Given the description of an element on the screen output the (x, y) to click on. 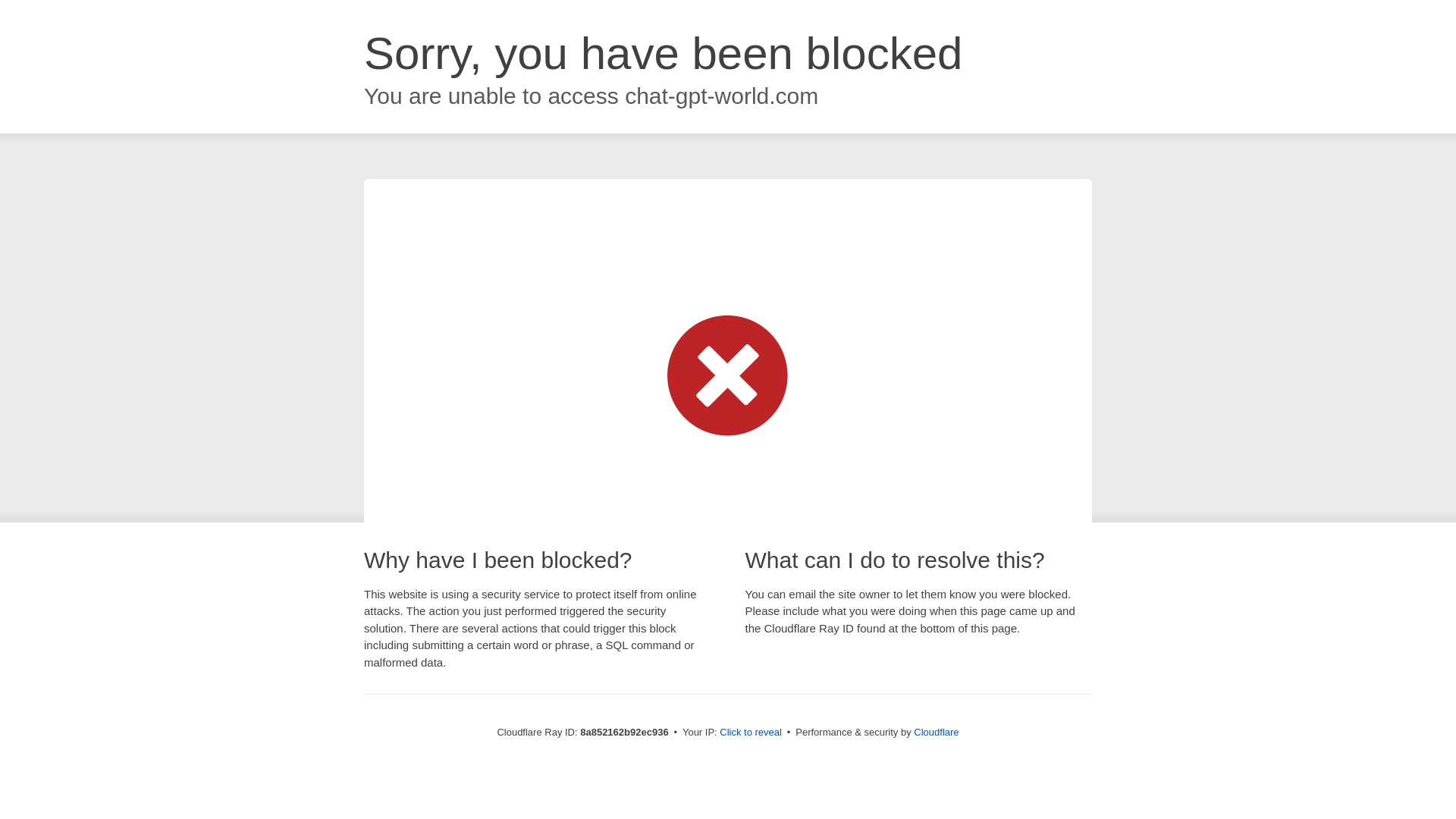
Cloudflare (936, 731)
Click to reveal (750, 732)
